Given the description of an element on the screen output the (x, y) to click on. 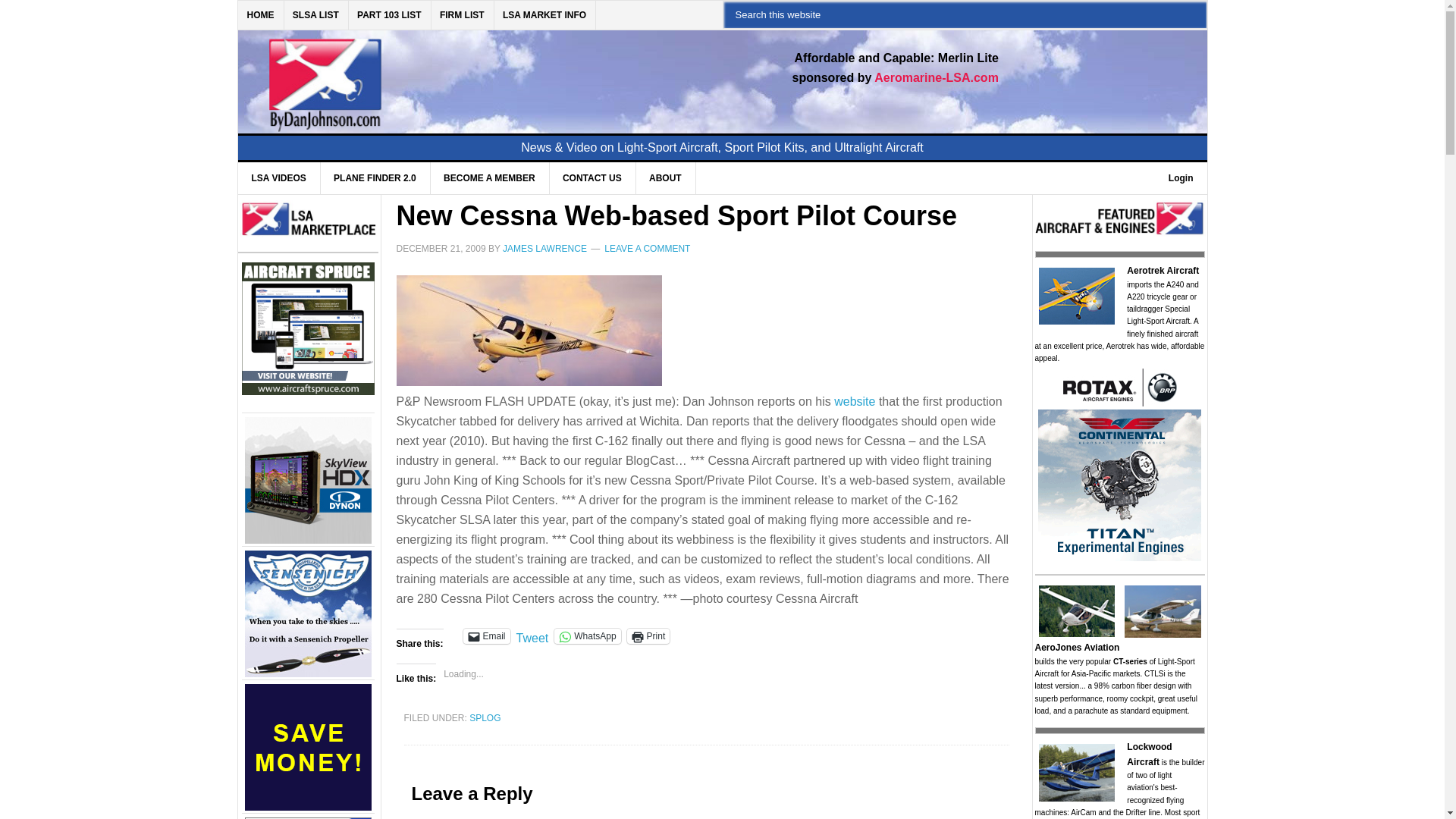
Click to share on WhatsApp (587, 635)
LEAVE A COMMENT (647, 248)
JAMES LAWRENCE (544, 248)
BYDANJOHNSON.COM (469, 73)
Click to print (648, 635)
PART 103 LIST (388, 14)
LSA VIDEOS (279, 178)
